Given the description of an element on the screen output the (x, y) to click on. 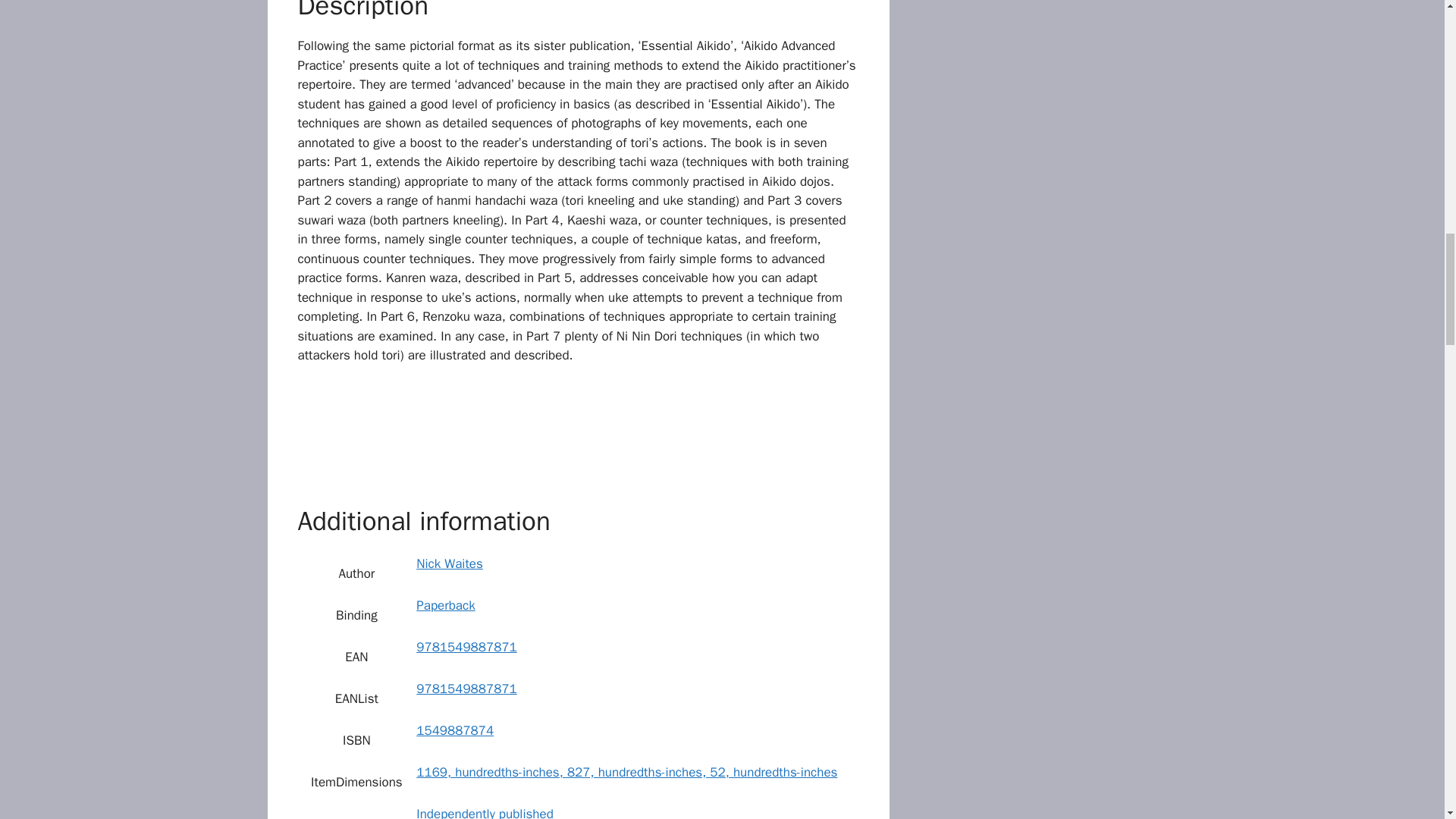
9781549887871 (466, 647)
Nick Waites (449, 563)
Paperback (445, 605)
